Given the description of an element on the screen output the (x, y) to click on. 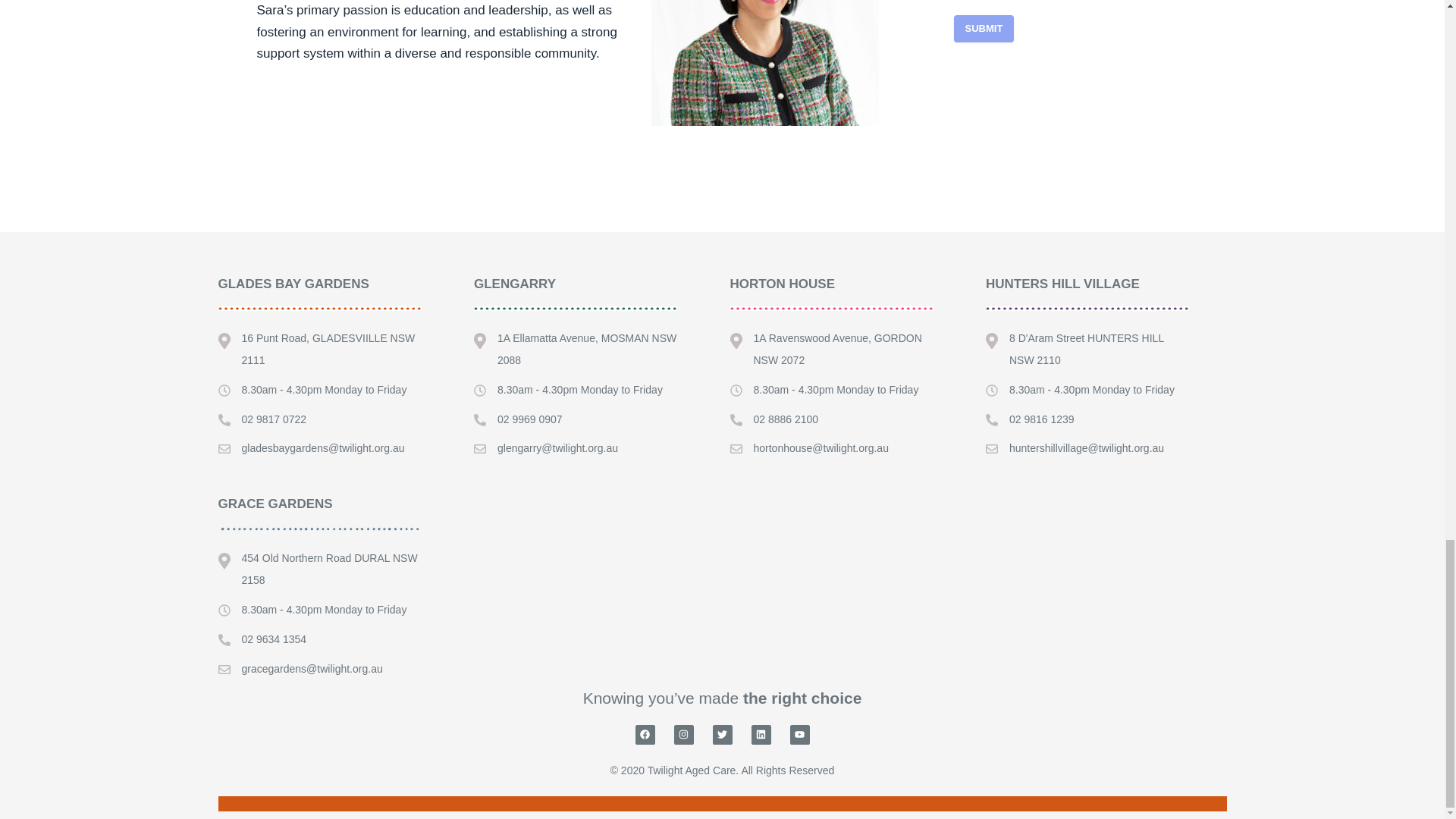
Submit (983, 28)
